Given the description of an element on the screen output the (x, y) to click on. 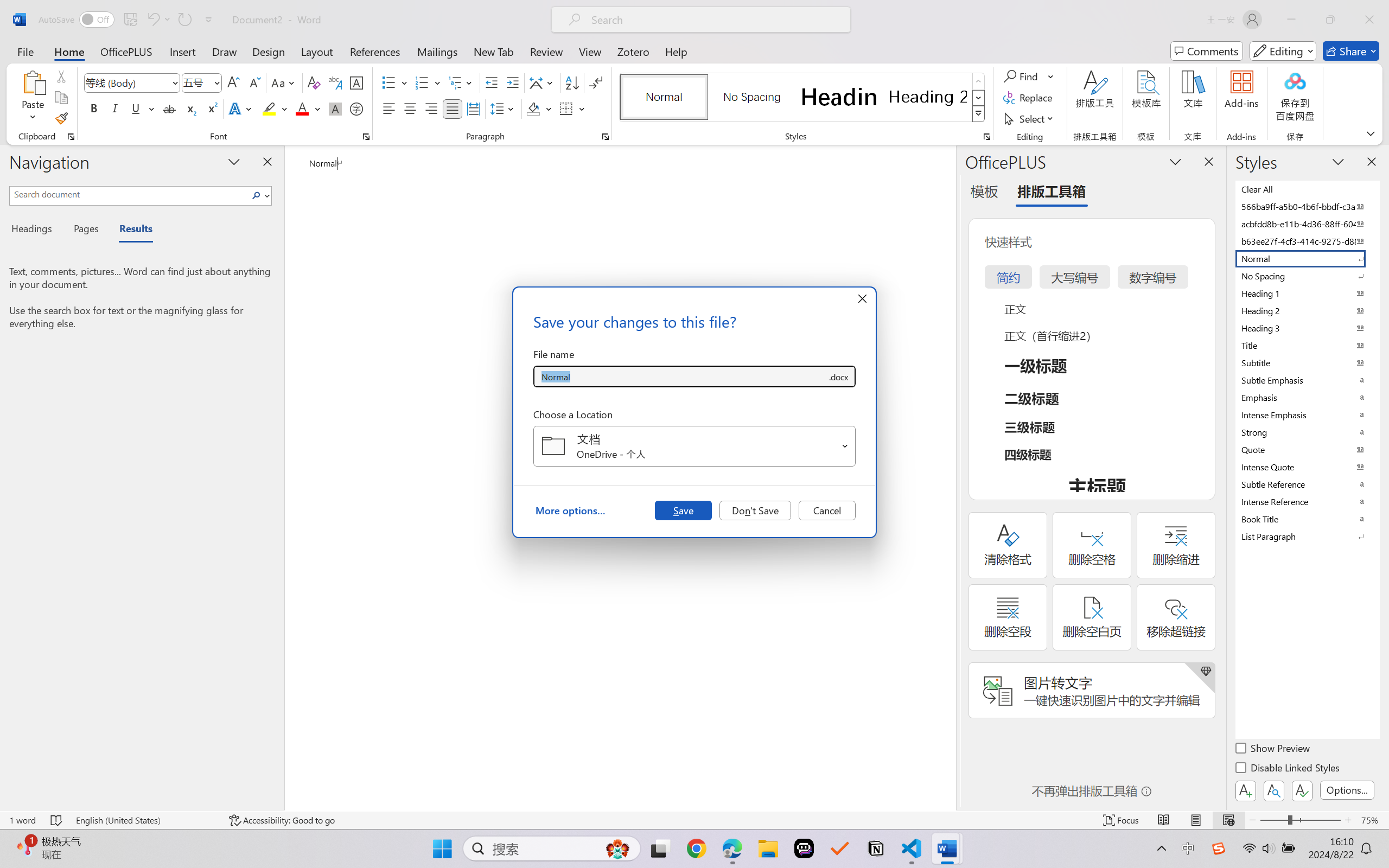
New Tab (493, 51)
Don't Save (755, 509)
Multilevel List (461, 82)
Change Case (284, 82)
Strikethrough (169, 108)
Italic (115, 108)
Styles... (986, 136)
Text Effects and Typography (241, 108)
Microsoft search (715, 19)
Align Left (388, 108)
Zoom (1300, 819)
Font Color (308, 108)
